Given the description of an element on the screen output the (x, y) to click on. 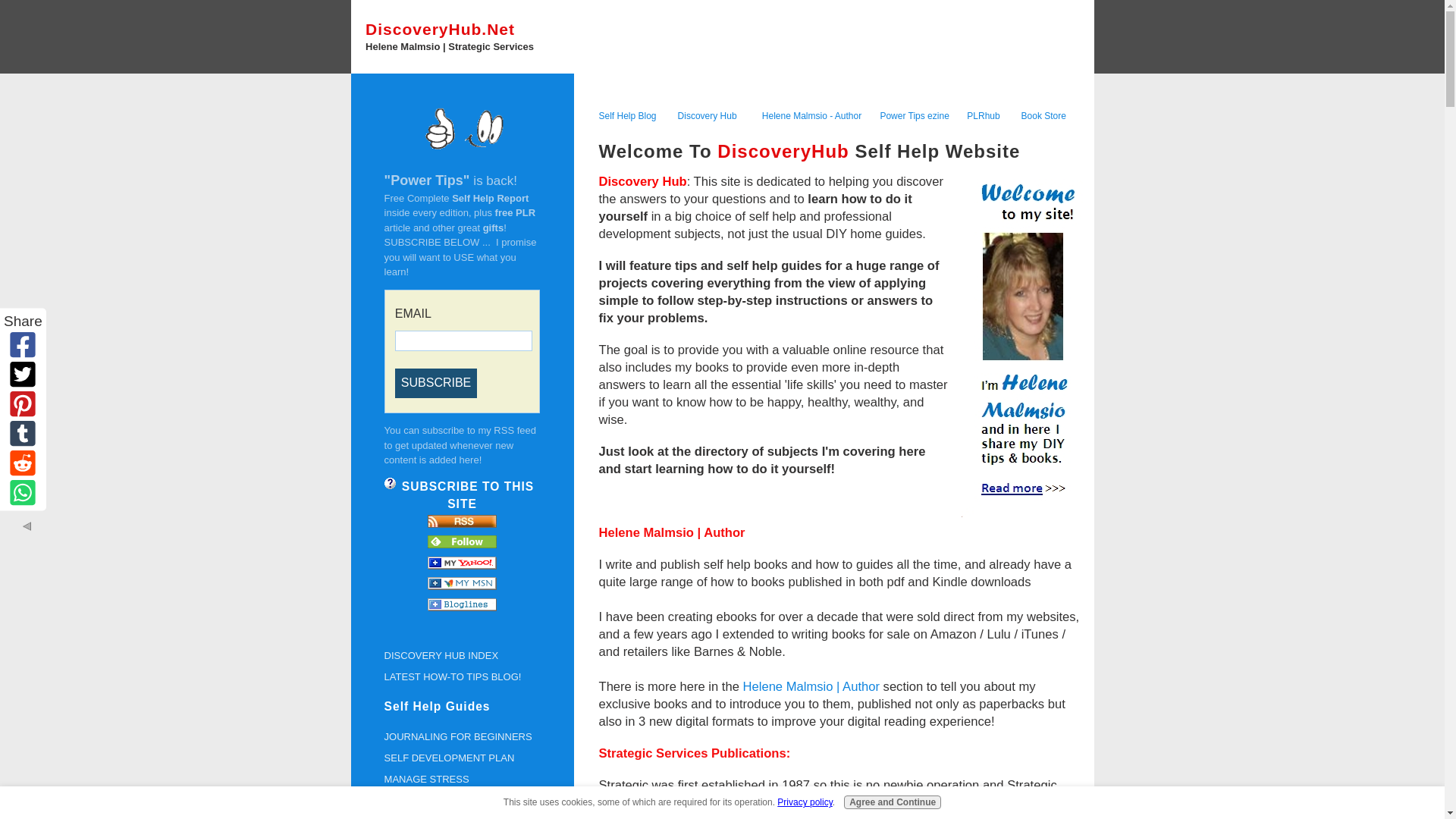
Discovery Hub (707, 115)
DiscoveryHub.Net (440, 28)
DISCOVERY HUB INDEX (462, 655)
Self Help Blog (627, 114)
LATEST HOW-TO TIPS BLOG! (462, 676)
Book Store (1043, 115)
Helene Malmsio - Author (811, 115)
Power Tips ezine (914, 115)
SUBSCRIBE (435, 382)
Go to About Us - Who is Helene Malmsio? (1017, 512)
